Given the description of an element on the screen output the (x, y) to click on. 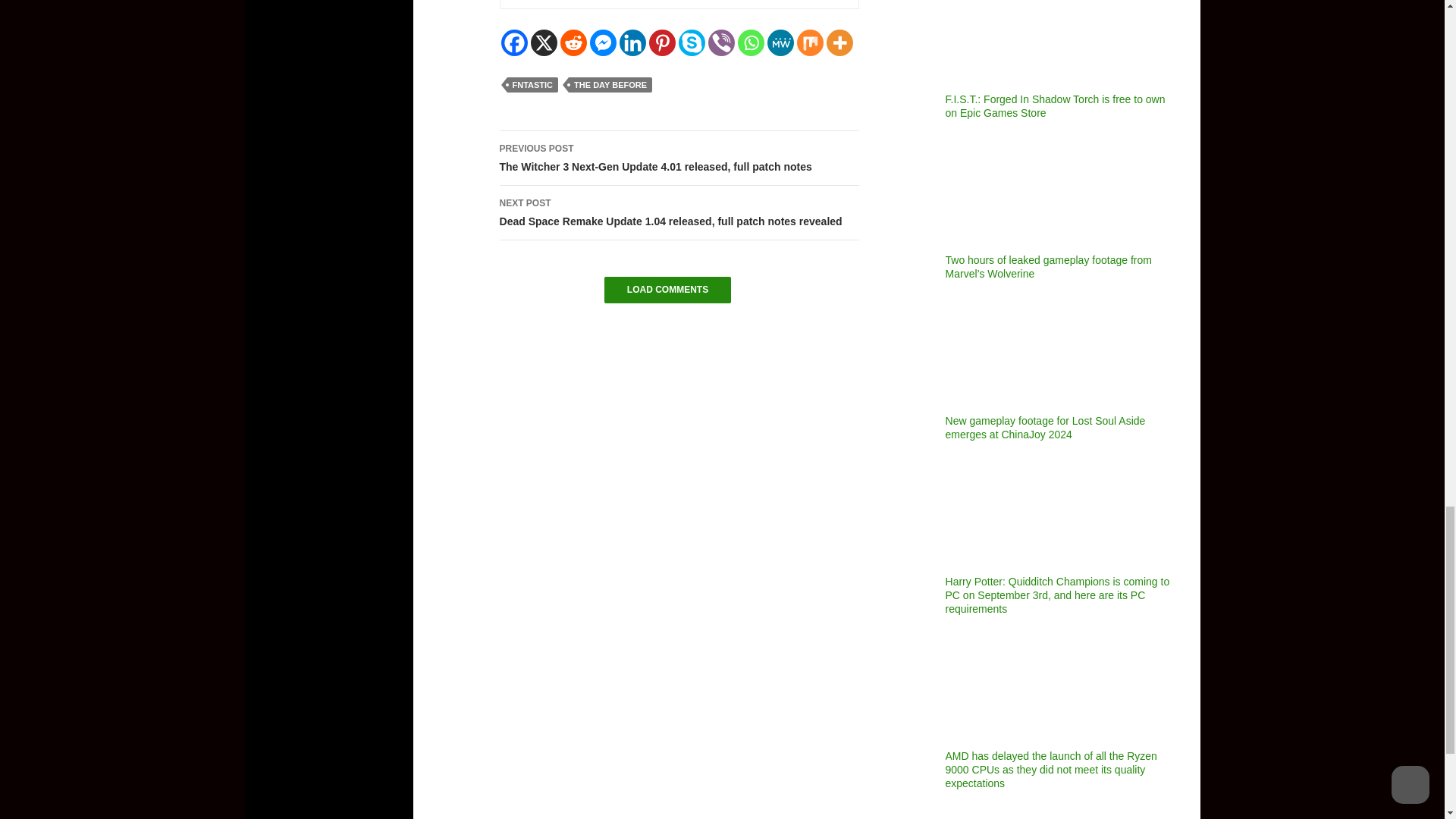
Facebook (513, 42)
X (544, 42)
